Given the description of an element on the screen output the (x, y) to click on. 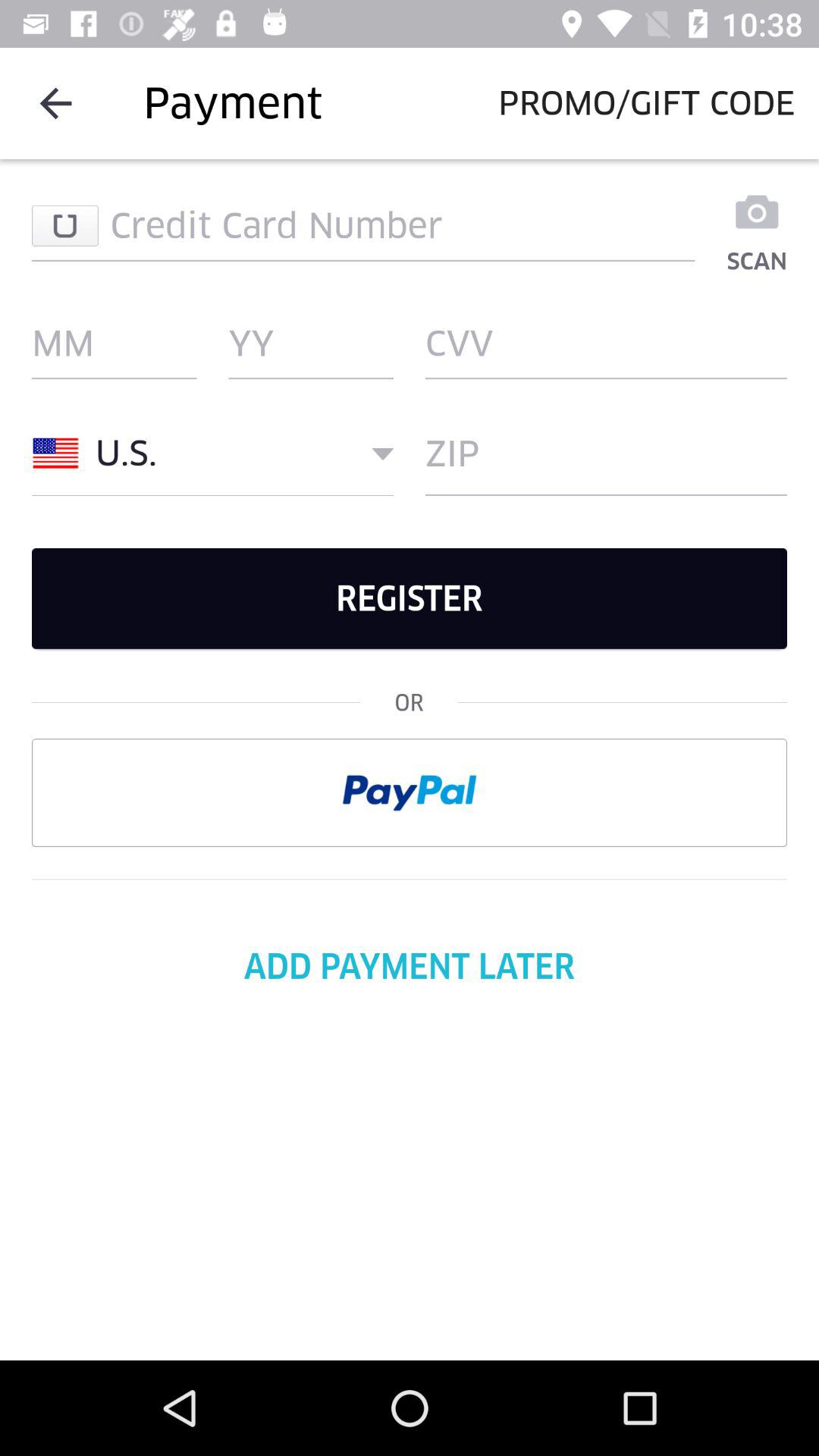
enter credit card number (363, 225)
